Given the description of an element on the screen output the (x, y) to click on. 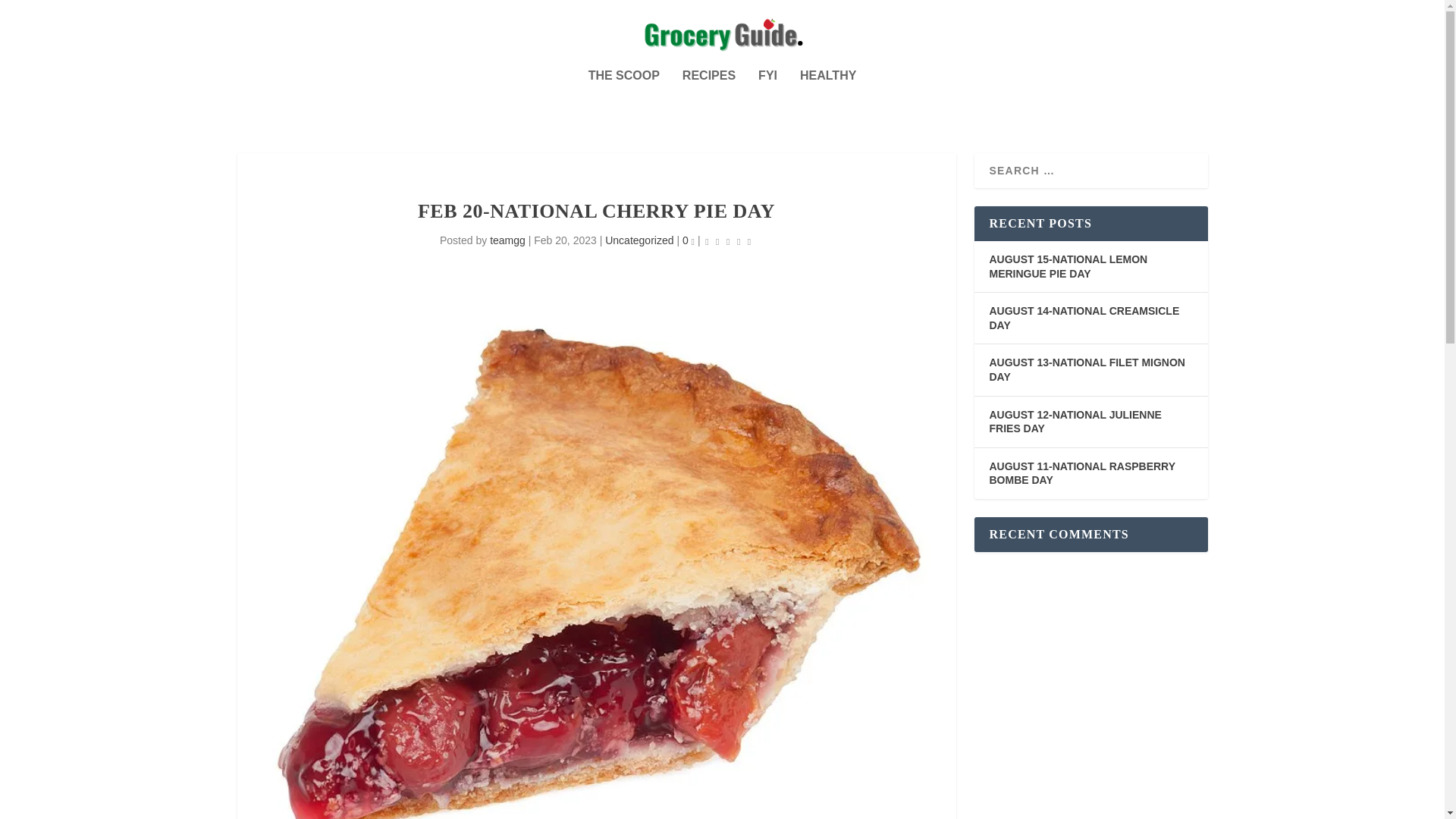
HEALTHY (827, 95)
AUGUST 15-NATIONAL LEMON MERINGUE PIE DAY (1067, 266)
Uncategorized (638, 240)
teamgg (507, 240)
THE SCOOP (623, 95)
AUGUST 13-NATIONAL FILET MIGNON DAY (1086, 369)
Posts by teamgg (507, 240)
AUGUST 11-NATIONAL RASPBERRY BOMBE DAY (1081, 473)
0 (688, 240)
RECIPES (708, 95)
